Given the description of an element on the screen output the (x, y) to click on. 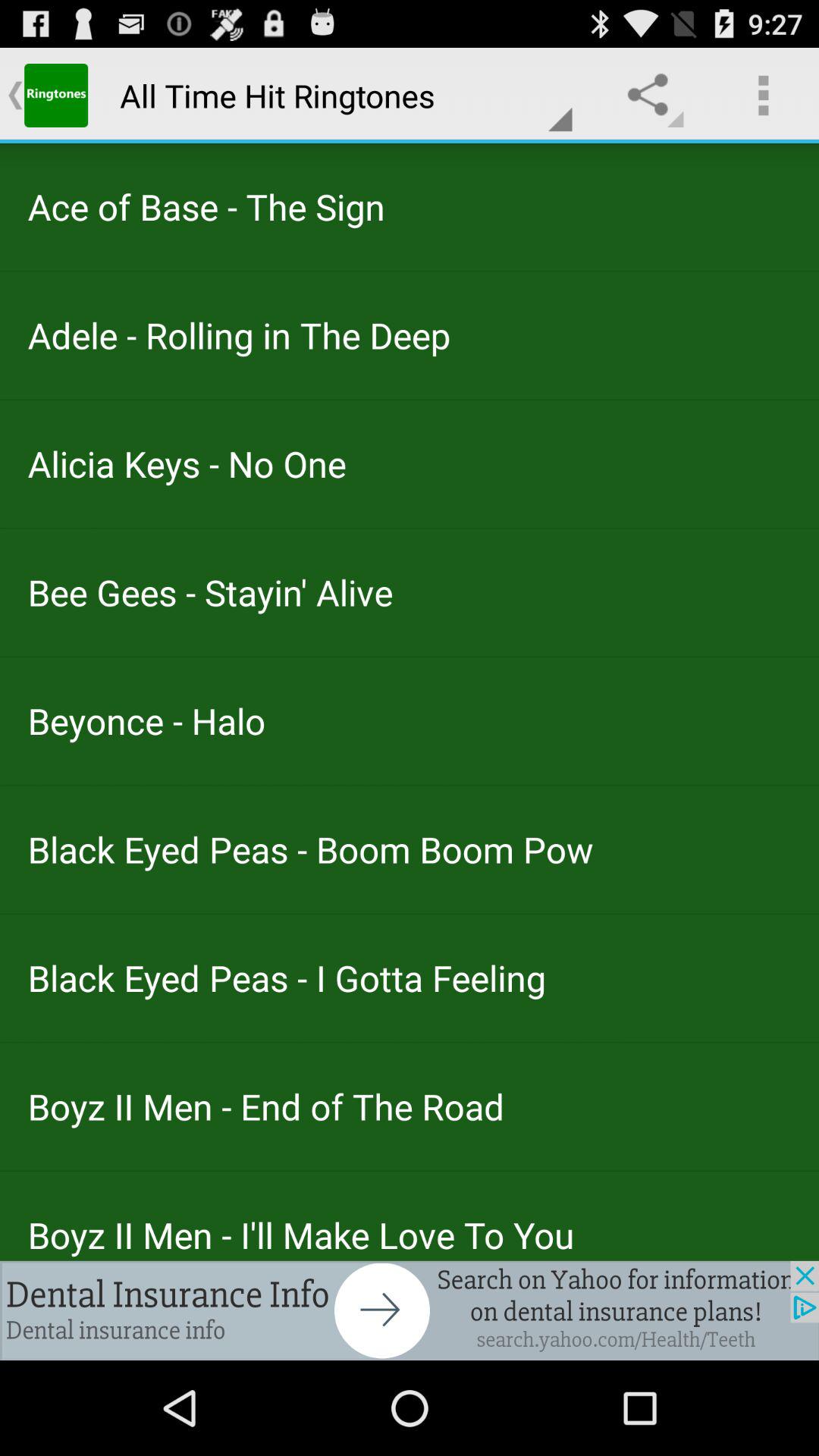
click on the share icon at the top right of the page (651, 95)
